Given the description of an element on the screen output the (x, y) to click on. 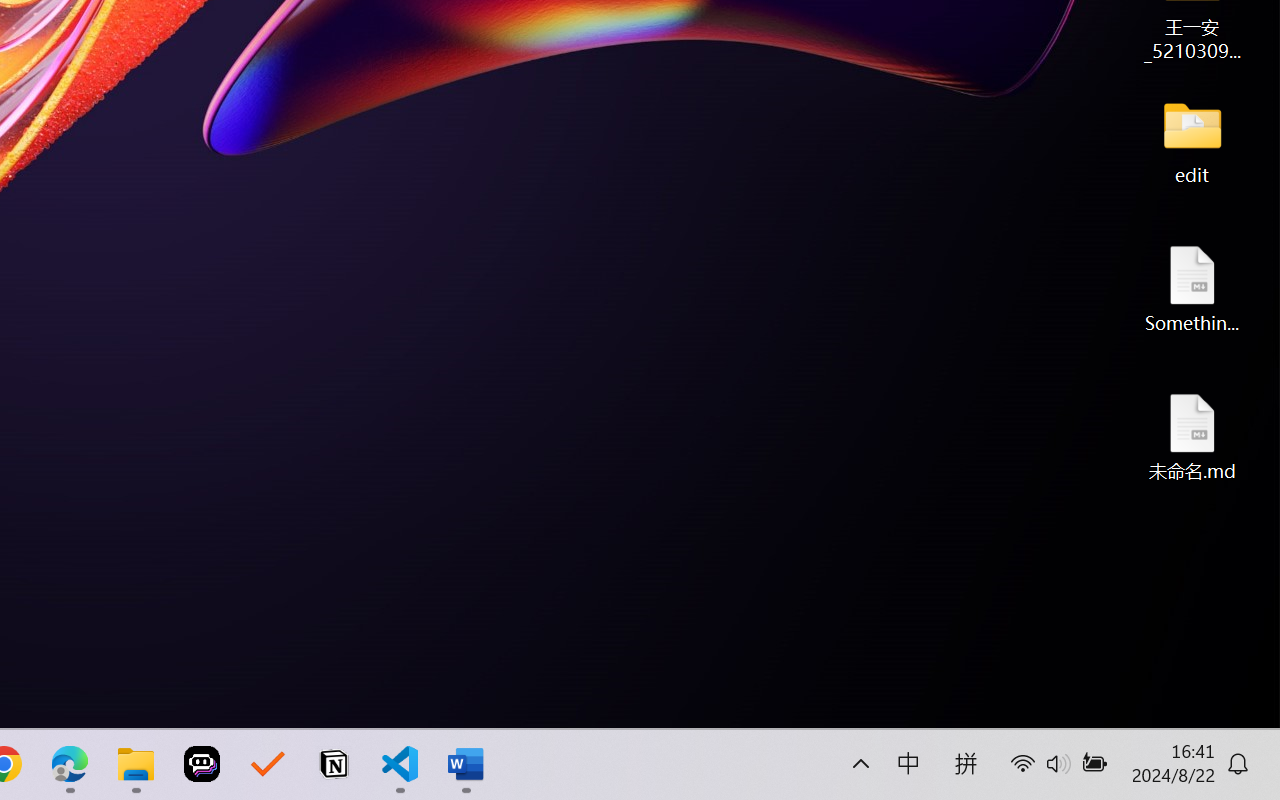
Poe (201, 764)
Something.md (1192, 288)
edit (1192, 140)
